Given the description of an element on the screen output the (x, y) to click on. 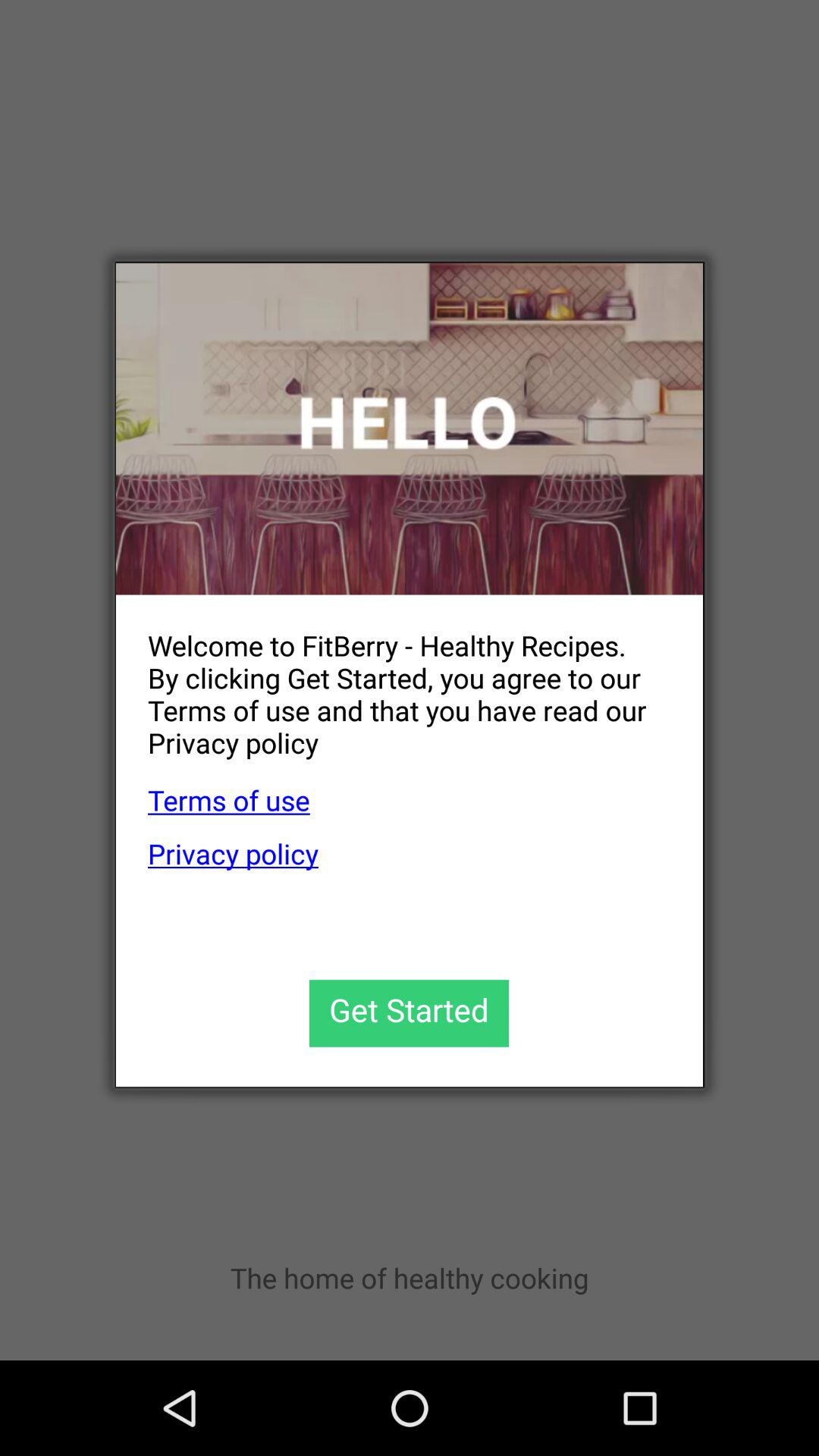
scroll until the welcome to fitberry icon (393, 681)
